Given the description of an element on the screen output the (x, y) to click on. 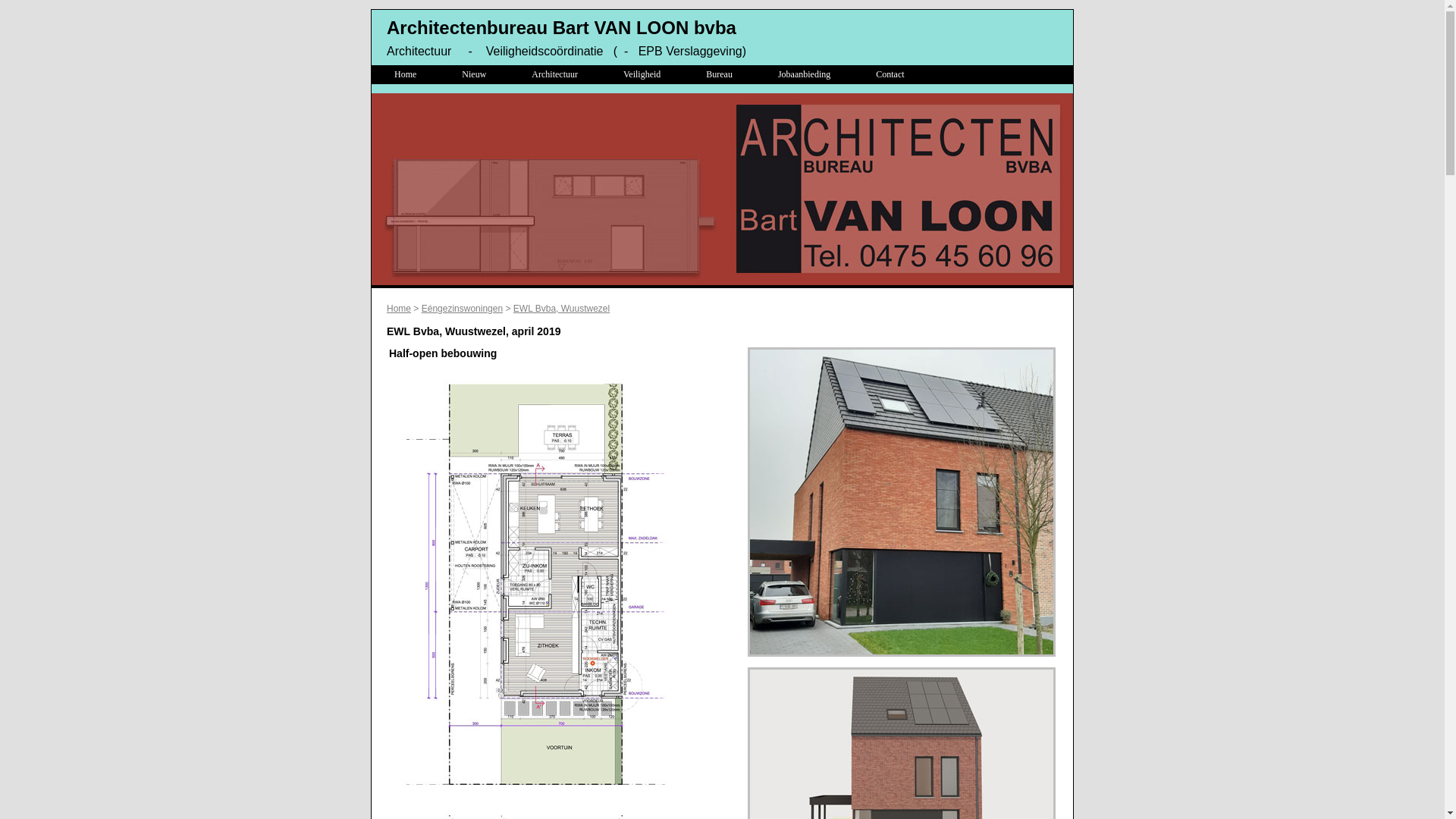
EWL Bvba, Wuustwezel Element type: text (561, 308)
Bureau Element type: text (719, 74)
Contact Element type: text (889, 74)
Nieuw Element type: text (473, 74)
Home Element type: text (405, 74)
Jobaanbieding Element type: text (804, 74)
Architectuur Element type: text (554, 74)
Veiligheid Element type: text (641, 74)
Home Element type: text (398, 308)
